Given the description of an element on the screen output the (x, y) to click on. 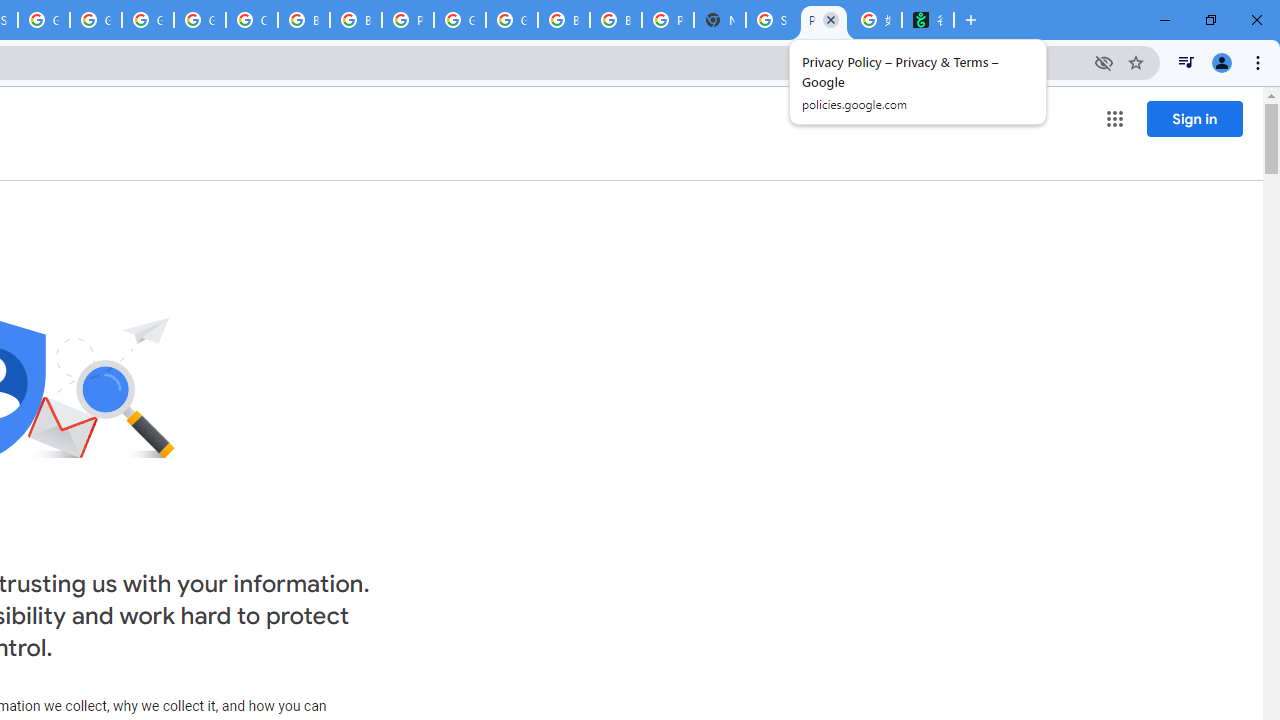
Google Cloud Platform (511, 20)
Sign in - Google Accounts (771, 20)
New Tab (719, 20)
